Given the description of an element on the screen output the (x, y) to click on. 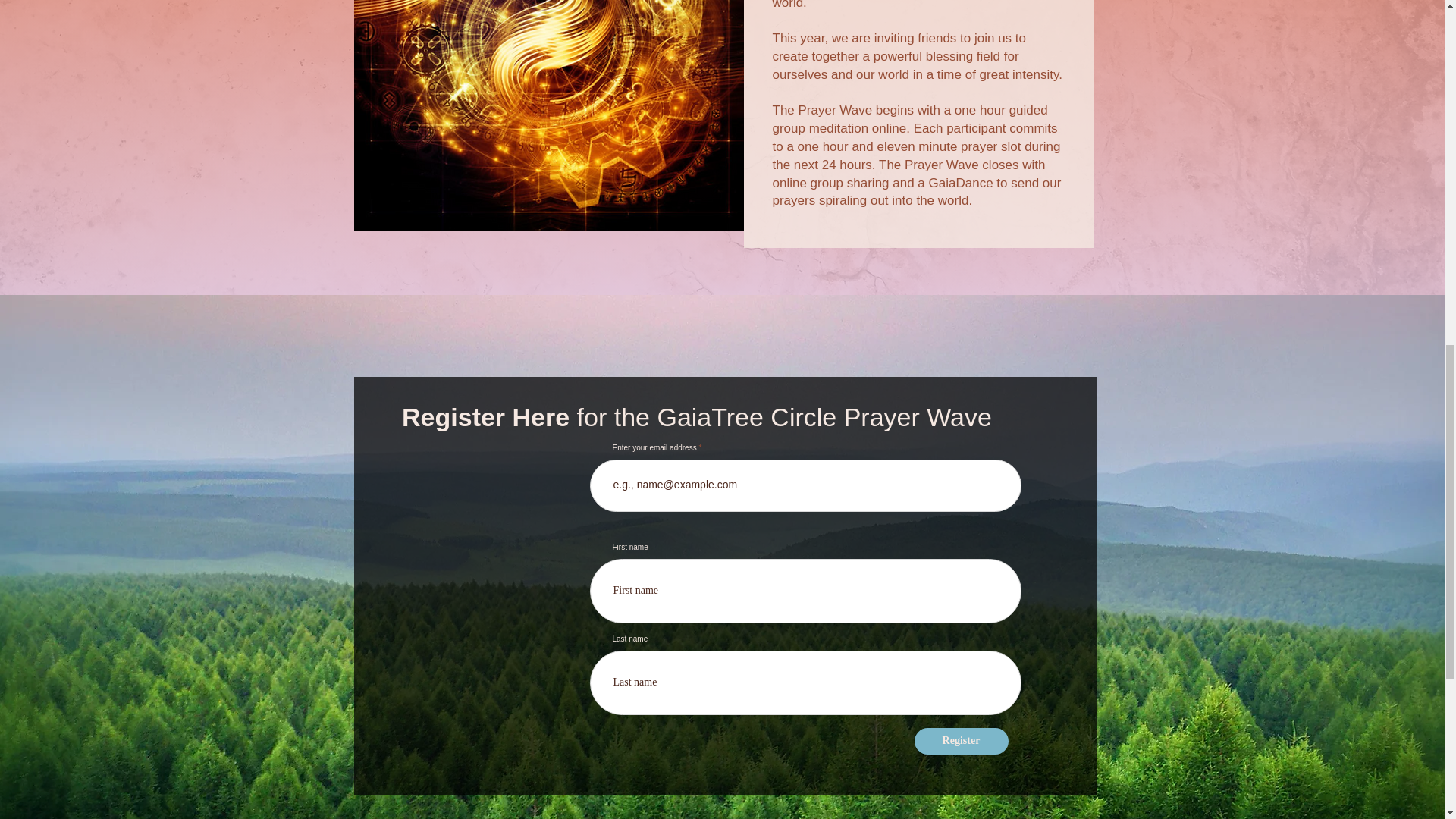
Register (961, 741)
source-energy-representation-mandala-ai-genaretor.jpg (547, 115)
